Given the description of an element on the screen output the (x, y) to click on. 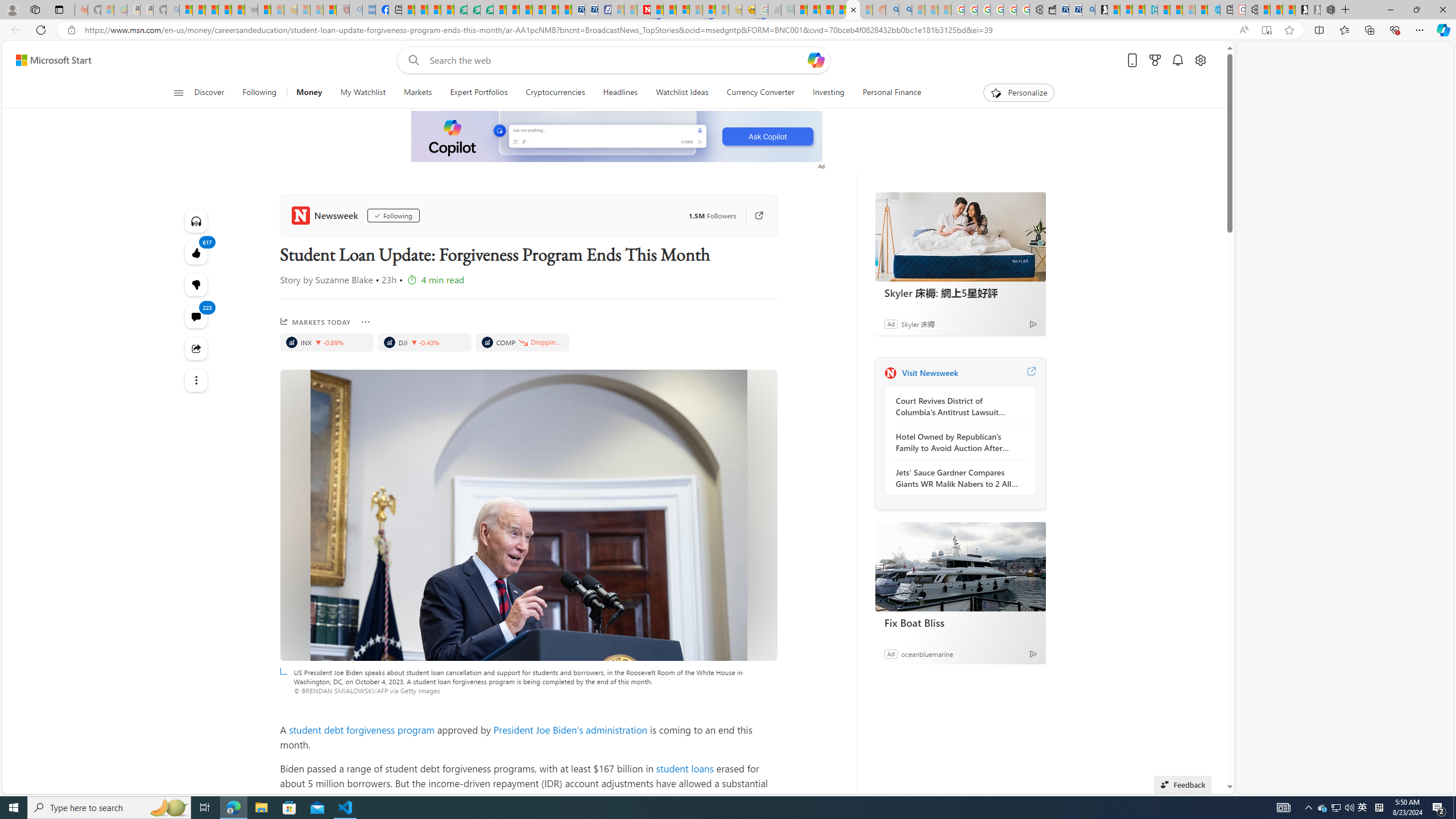
Microsoft rewards (1154, 60)
Fix Boat Bliss (960, 566)
student loans (684, 768)
Home | Sky Blue Bikes - Sky Blue Bikes (1213, 9)
My Watchlist (362, 92)
student debt forgiveness program (360, 729)
Feedback (1182, 784)
Personal Finance (887, 92)
Markets (417, 92)
